Given the description of an element on the screen output the (x, y) to click on. 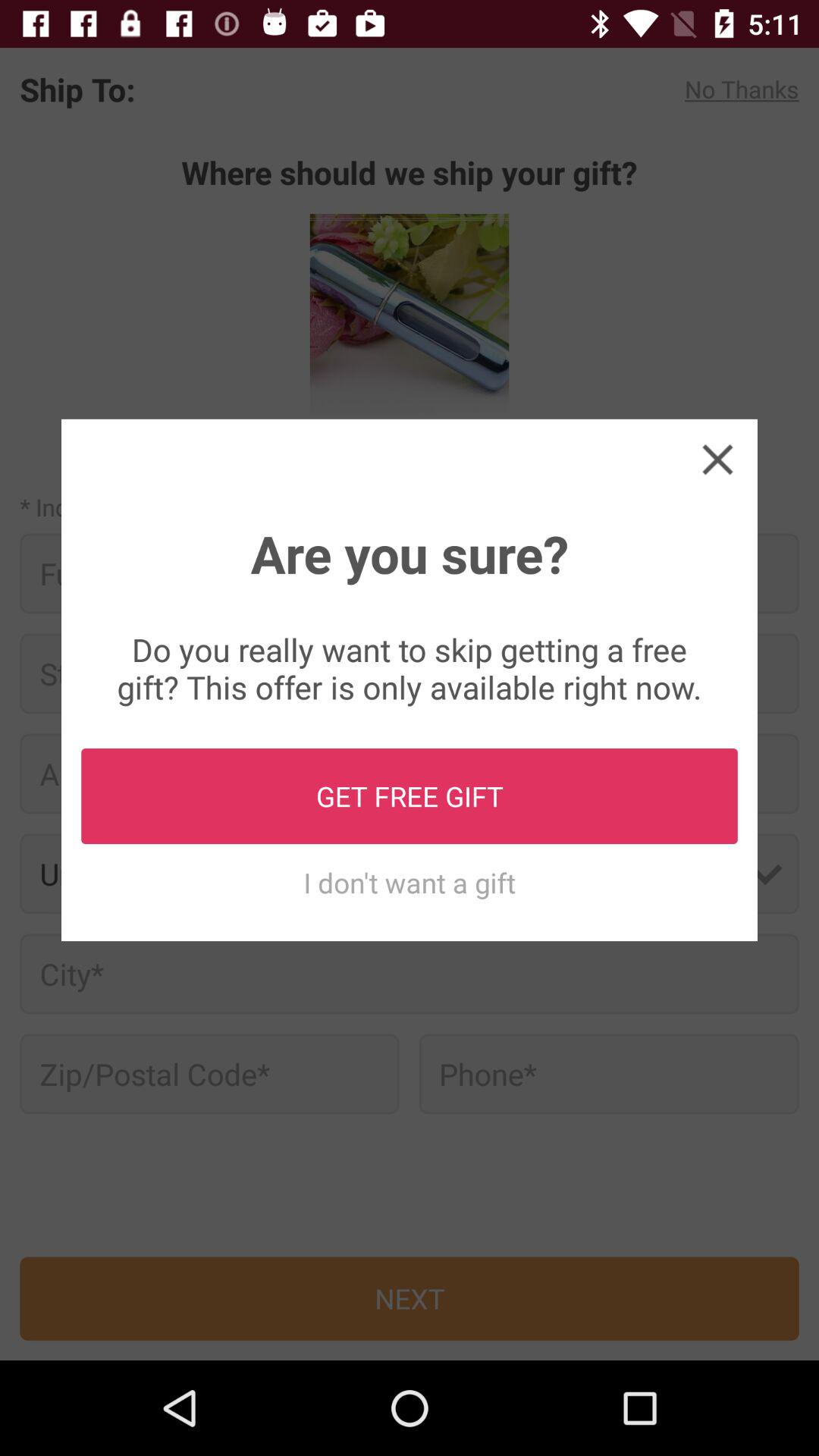
launch the icon above the are you sure? icon (717, 458)
